Given the description of an element on the screen output the (x, y) to click on. 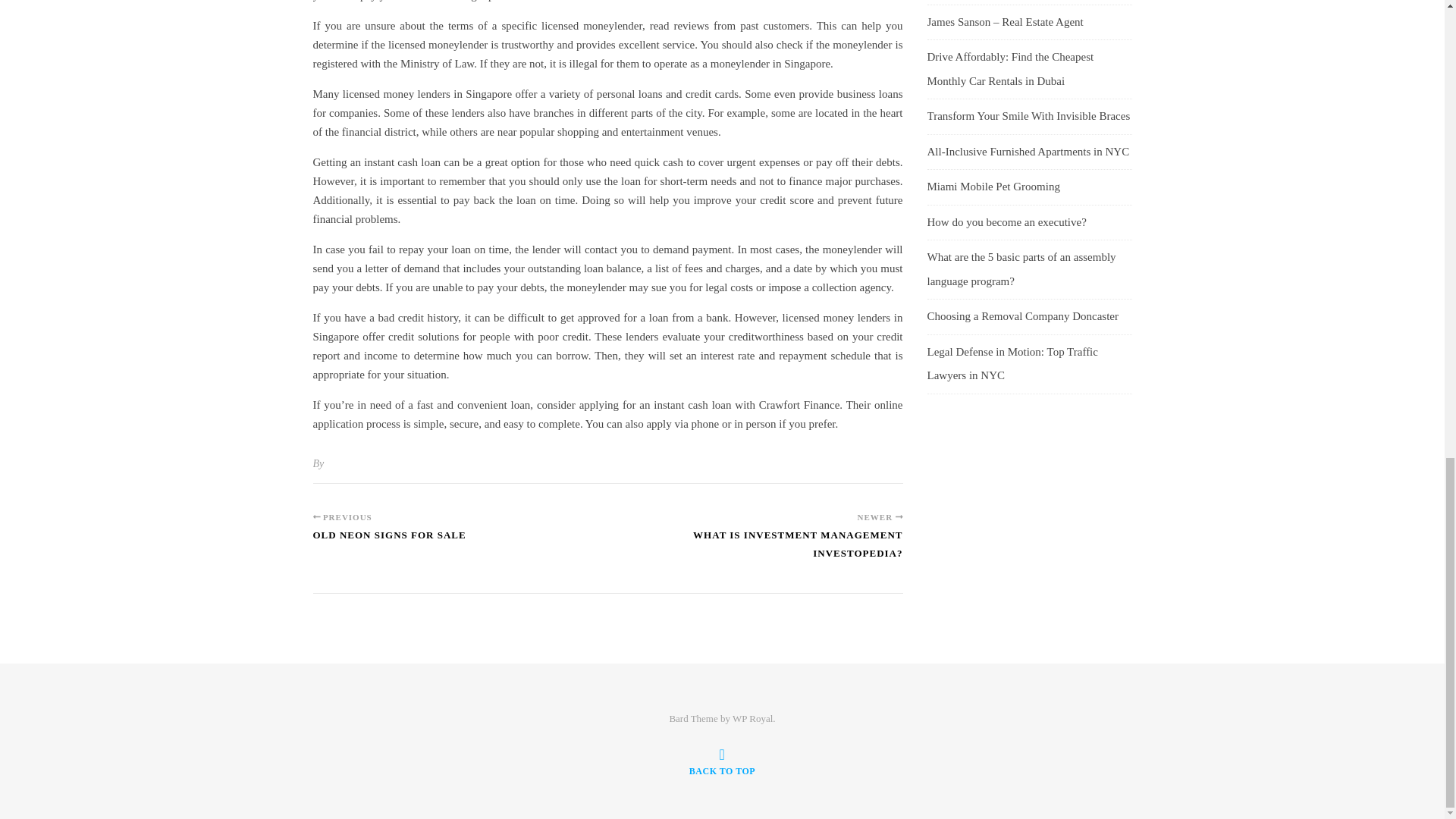
How do you become an executive? (1006, 222)
Old Neon Signs For Sale (389, 541)
Legal Defense in Motion: Top Traffic Lawyers in NYC (1011, 362)
WP Royal (752, 717)
WHAT IS INVESTMENT MANAGEMENT INVESTOPEDIA? (755, 551)
All-Inclusive Furnished Apartments in NYC (1027, 150)
What are the 5 basic parts of an assembly language program? (1020, 268)
Transform Your Smile With Invisible Braces (1027, 115)
BACK TO TOP (722, 761)
What is investment management investopedia? (755, 551)
Choosing a Removal Company Doncaster (1022, 316)
OLD NEON SIGNS FOR SALE (389, 541)
Miami Mobile Pet Grooming (992, 186)
